Given the description of an element on the screen output the (x, y) to click on. 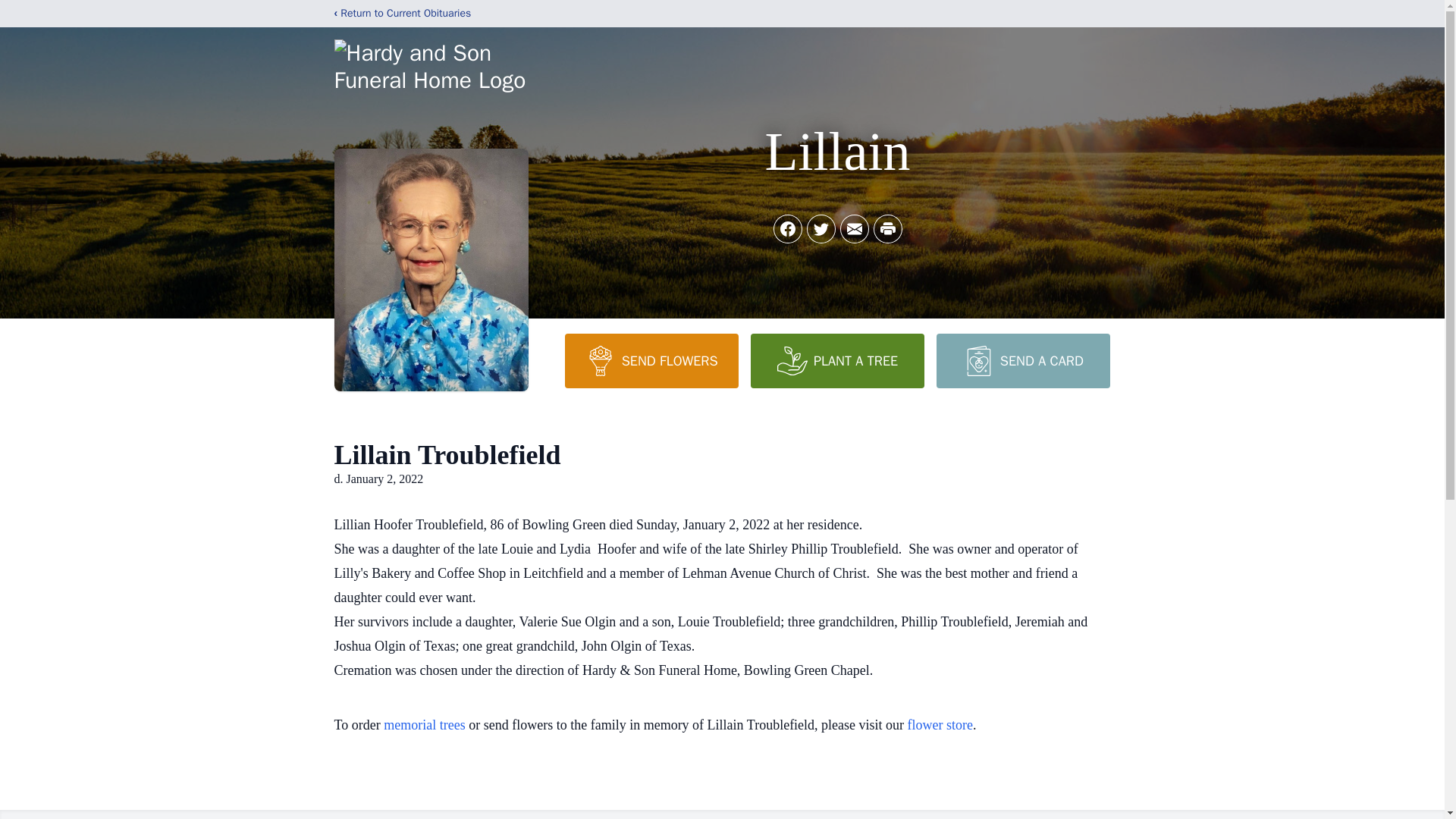
SEND FLOWERS (651, 360)
SEND A CARD (1022, 360)
PLANT A TREE (837, 360)
flower store (939, 724)
memorial trees (424, 724)
